Given the description of an element on the screen output the (x, y) to click on. 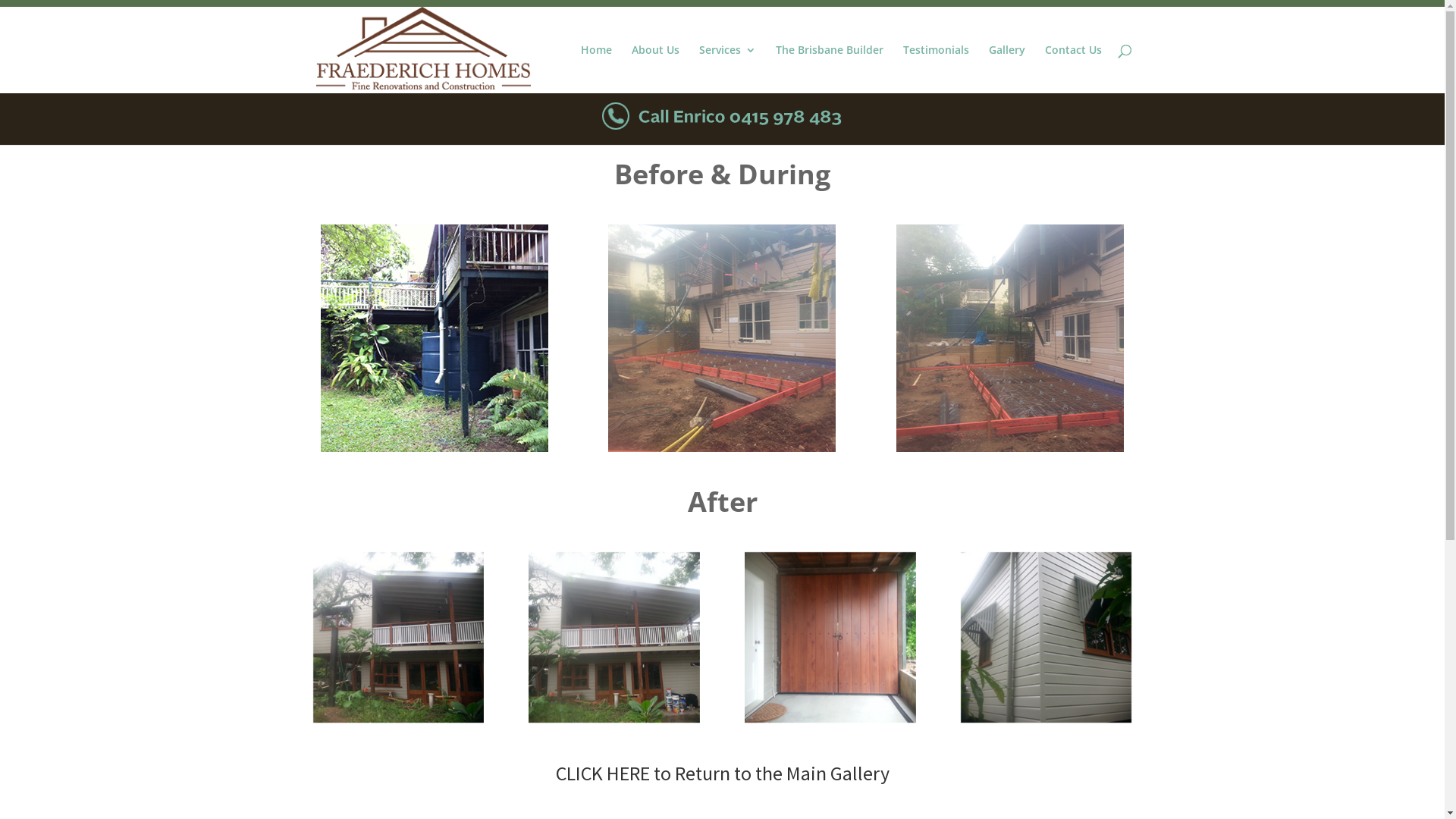
Extend Upstairs and Down After 03 Element type: hover (829, 637)
Extend Upstairs and Down After 01 Element type: hover (397, 637)
Gallery Element type: text (1006, 68)
Extend Upstairs and Down During 02 Element type: hover (1009, 337)
Home Element type: text (595, 68)
Testimonials Element type: text (935, 68)
Services Element type: text (727, 68)
Contact Us Element type: text (1072, 68)
Extend Upstairs and Down Before 01 Element type: hover (434, 337)
Extend Upstairs and Down During 01 Element type: hover (721, 337)
Extend Upstairs and Down After 02 Element type: hover (613, 637)
About Us Element type: text (654, 68)
The Brisbane Builder Element type: text (828, 68)
CLICK HERE to Return to the Main Gallery Element type: text (721, 772)
Extend Upstairs and Down After 04 Element type: hover (1045, 637)
